Given the description of an element on the screen output the (x, y) to click on. 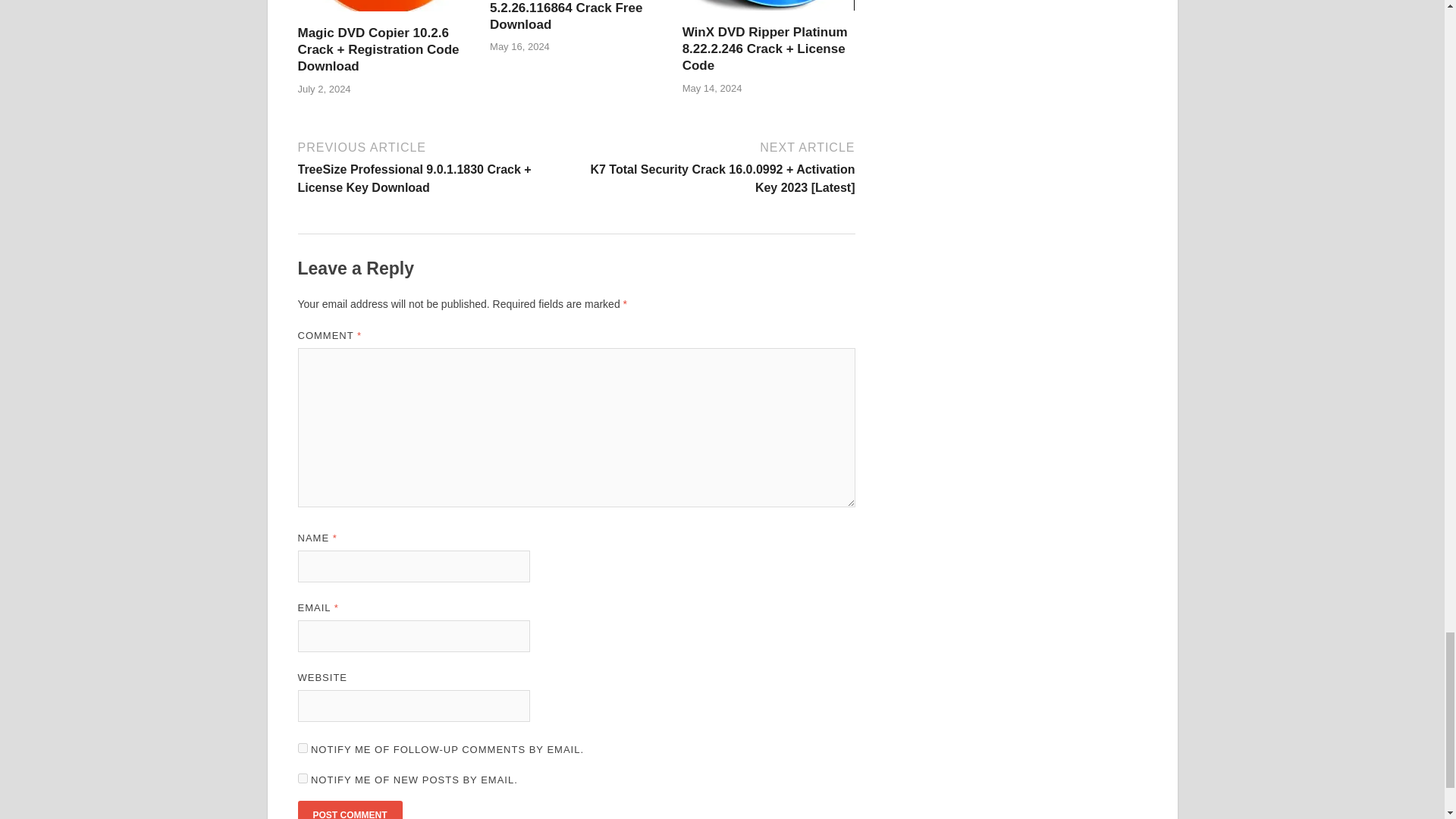
Post Comment (349, 809)
subscribe (302, 747)
subscribe (302, 777)
